Given the description of an element on the screen output the (x, y) to click on. 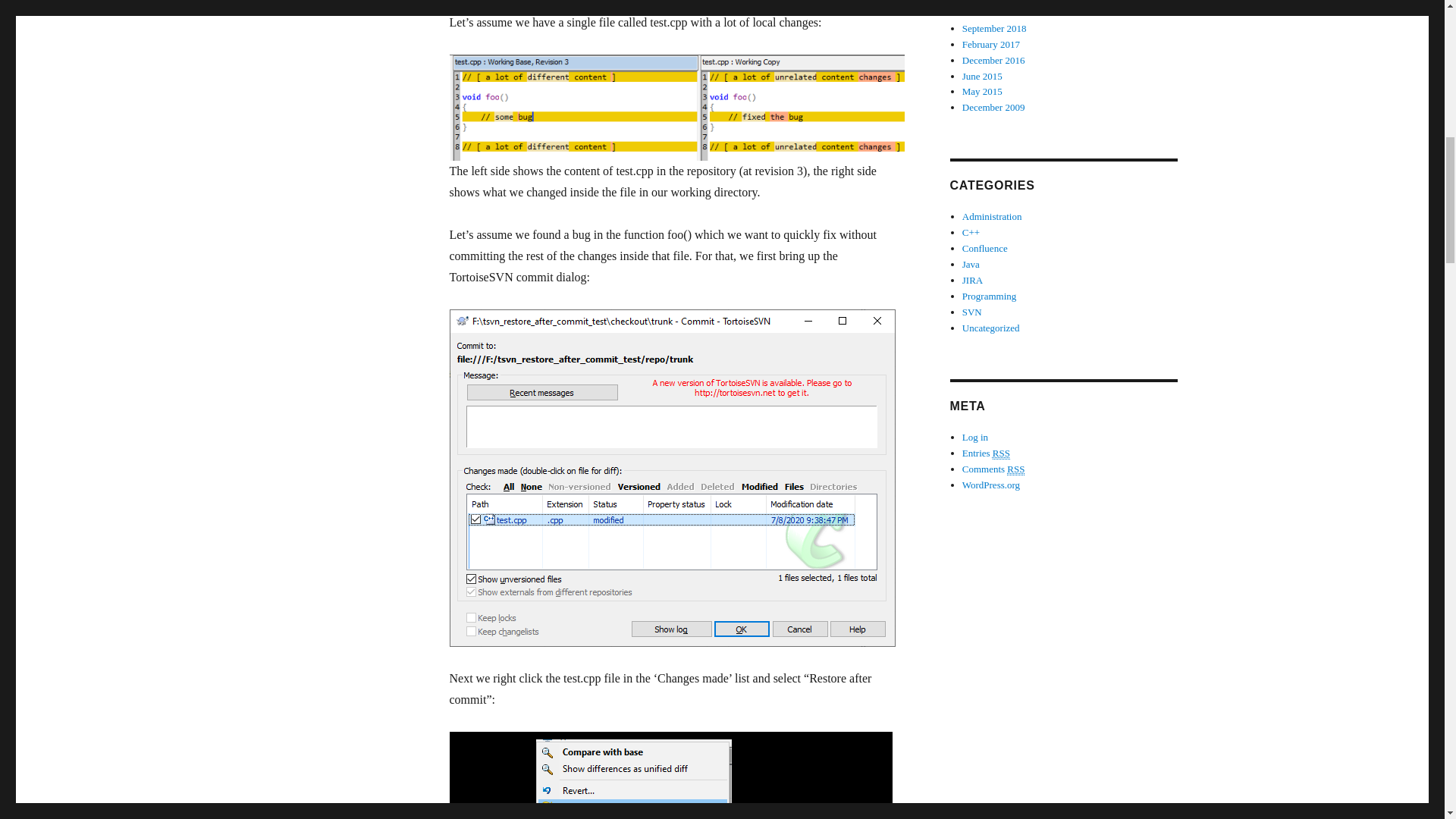
September 2019 (994, 1)
JIRA (972, 279)
March 2019 (986, 12)
February 2017 (991, 43)
May 2015 (982, 91)
June 2015 (982, 75)
December 2009 (993, 107)
Programming (989, 296)
Administration (992, 215)
Java (970, 264)
Confluence (984, 247)
Really Simple Syndication (1016, 469)
Really Simple Syndication (1001, 453)
December 2016 (993, 60)
